Given the description of an element on the screen output the (x, y) to click on. 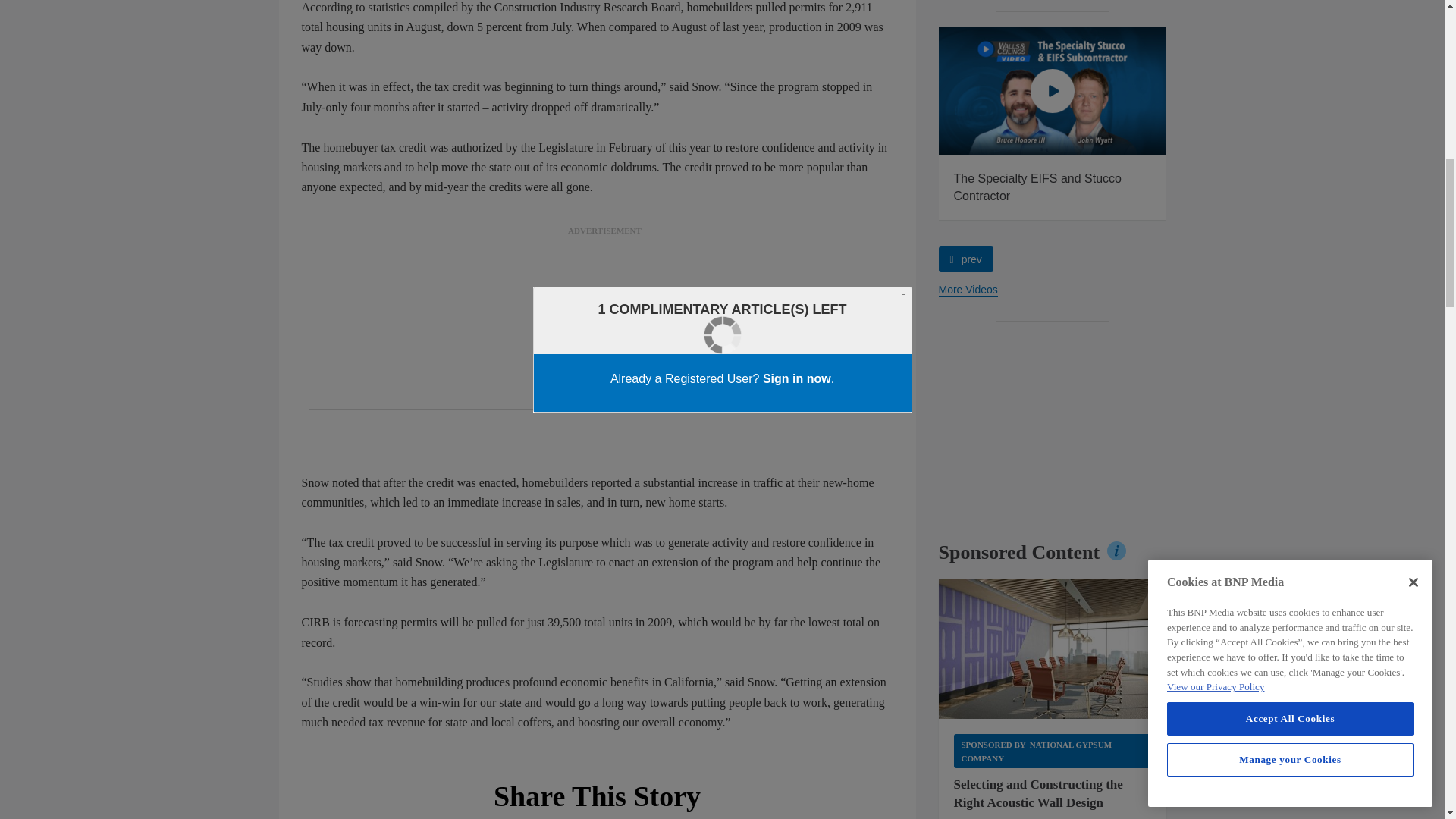
A New Niche Solution for Subcontractors? (825, 90)
The Specialty EIFS and Stucco Contractor (1052, 90)
Sponsored by National Gypsum Company (1052, 750)
Sound Solutions SoundBreak XP (1052, 649)
